Given the description of an element on the screen output the (x, y) to click on. 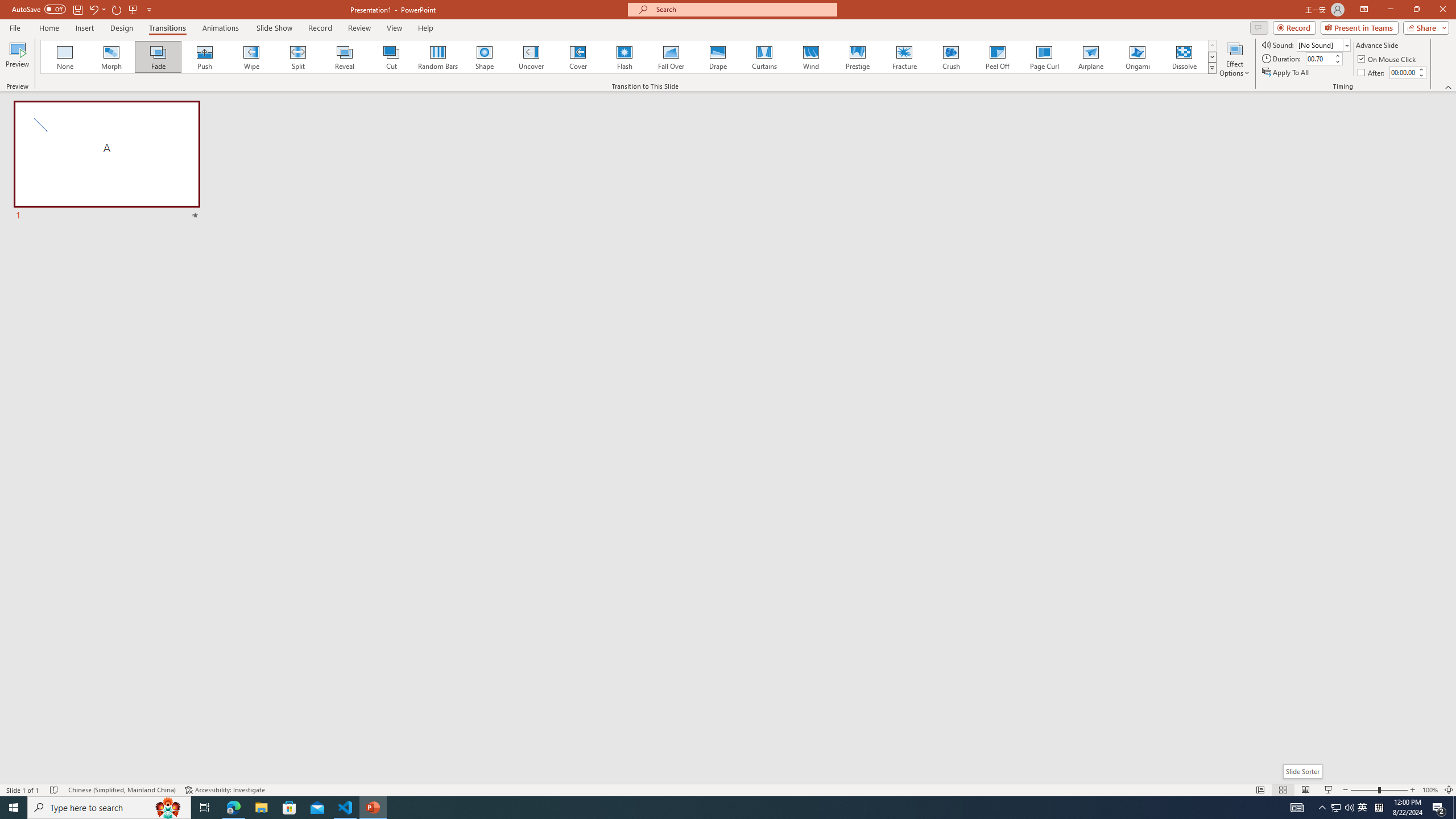
Transition Effects (1212, 67)
Airplane (1090, 56)
Morph (111, 56)
Push (205, 56)
None (65, 56)
Shape (484, 56)
Wipe (251, 56)
Duration (1319, 58)
